Given the description of an element on the screen output the (x, y) to click on. 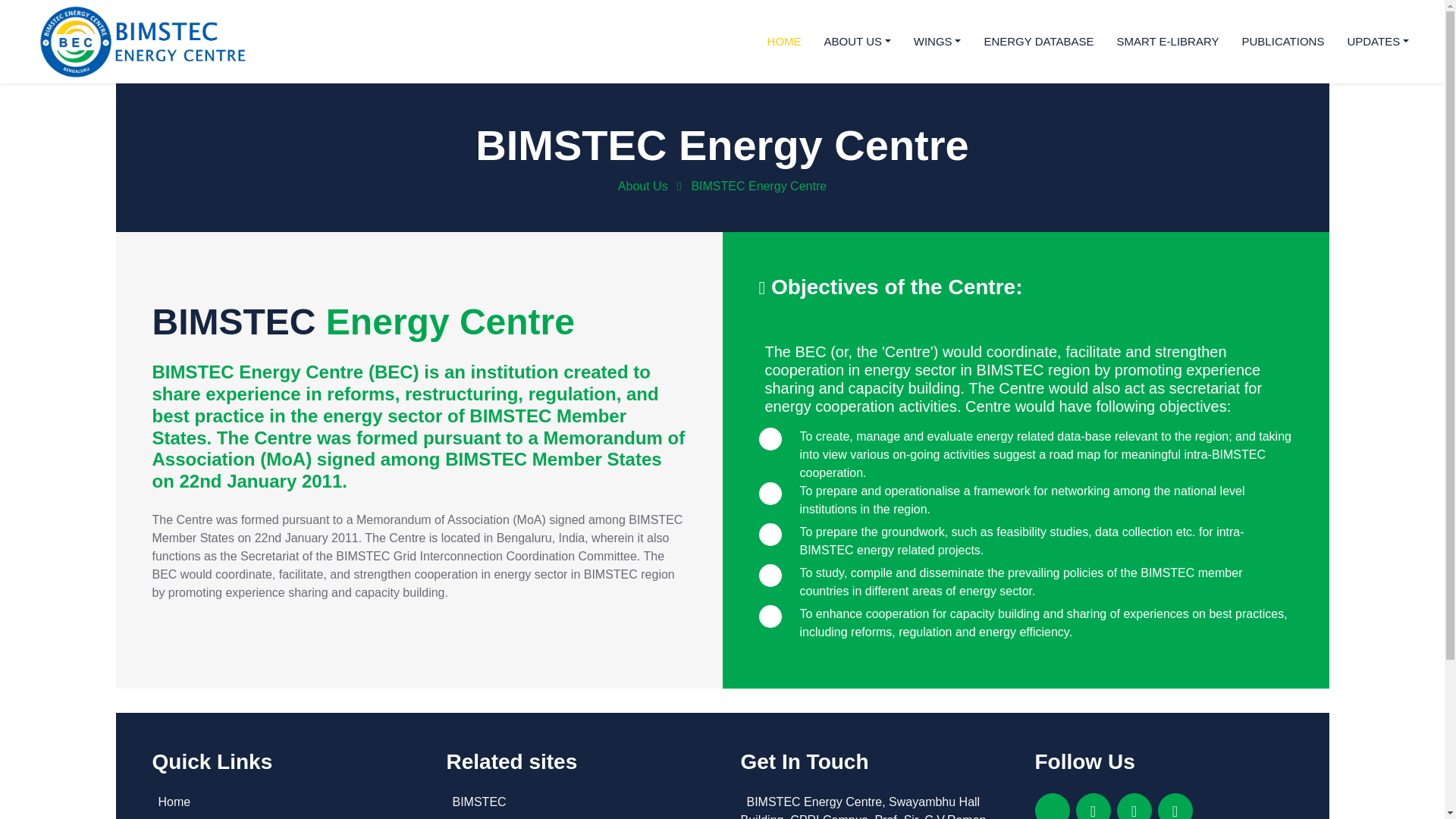
PUBLICATIONS (1283, 41)
HOME (783, 41)
ENERGY DATABASE (1038, 41)
BIMSTEC (574, 802)
BIMSTEC Energy Centre (758, 185)
About Us (642, 185)
SMART E-LIBRARY (1167, 41)
ABOUT US (857, 41)
